Given the description of an element on the screen output the (x, y) to click on. 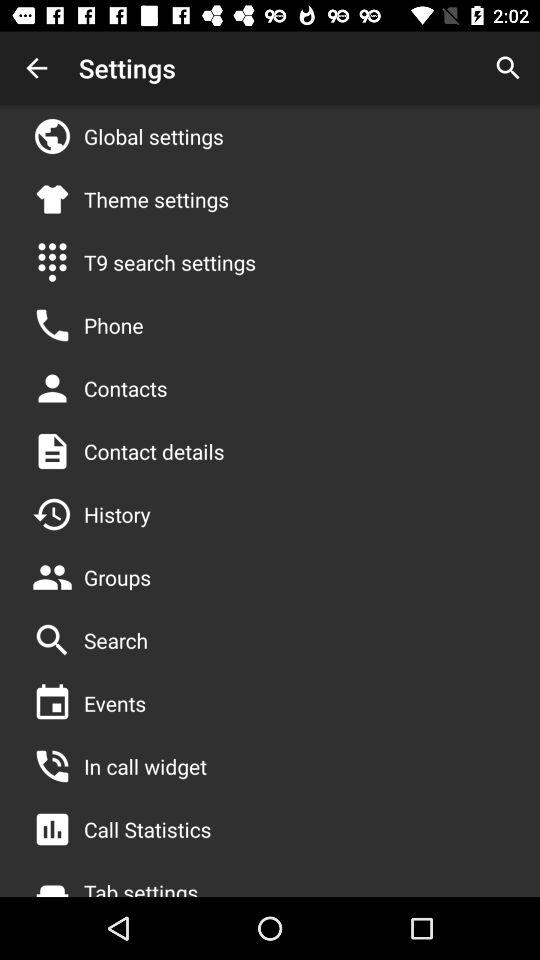
press item below phone icon (125, 388)
